Given the description of an element on the screen output the (x, y) to click on. 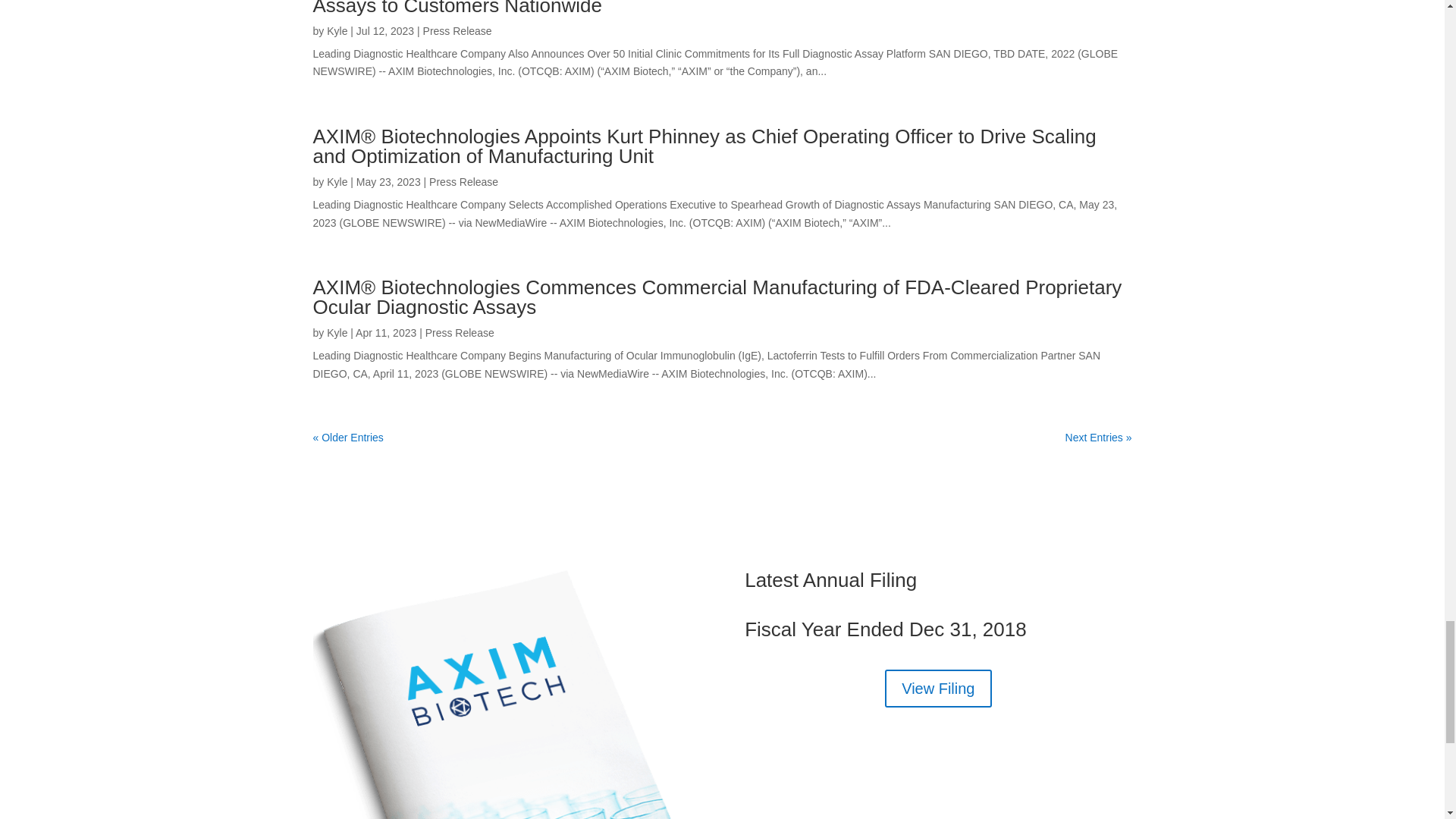
Posts by Kyle (336, 30)
Posts by Kyle (336, 332)
Press Release (463, 182)
Posts by Kyle (336, 182)
Kyle (336, 182)
Press Release (457, 30)
Kyle (336, 30)
Kyle (336, 332)
